Given the description of an element on the screen output the (x, y) to click on. 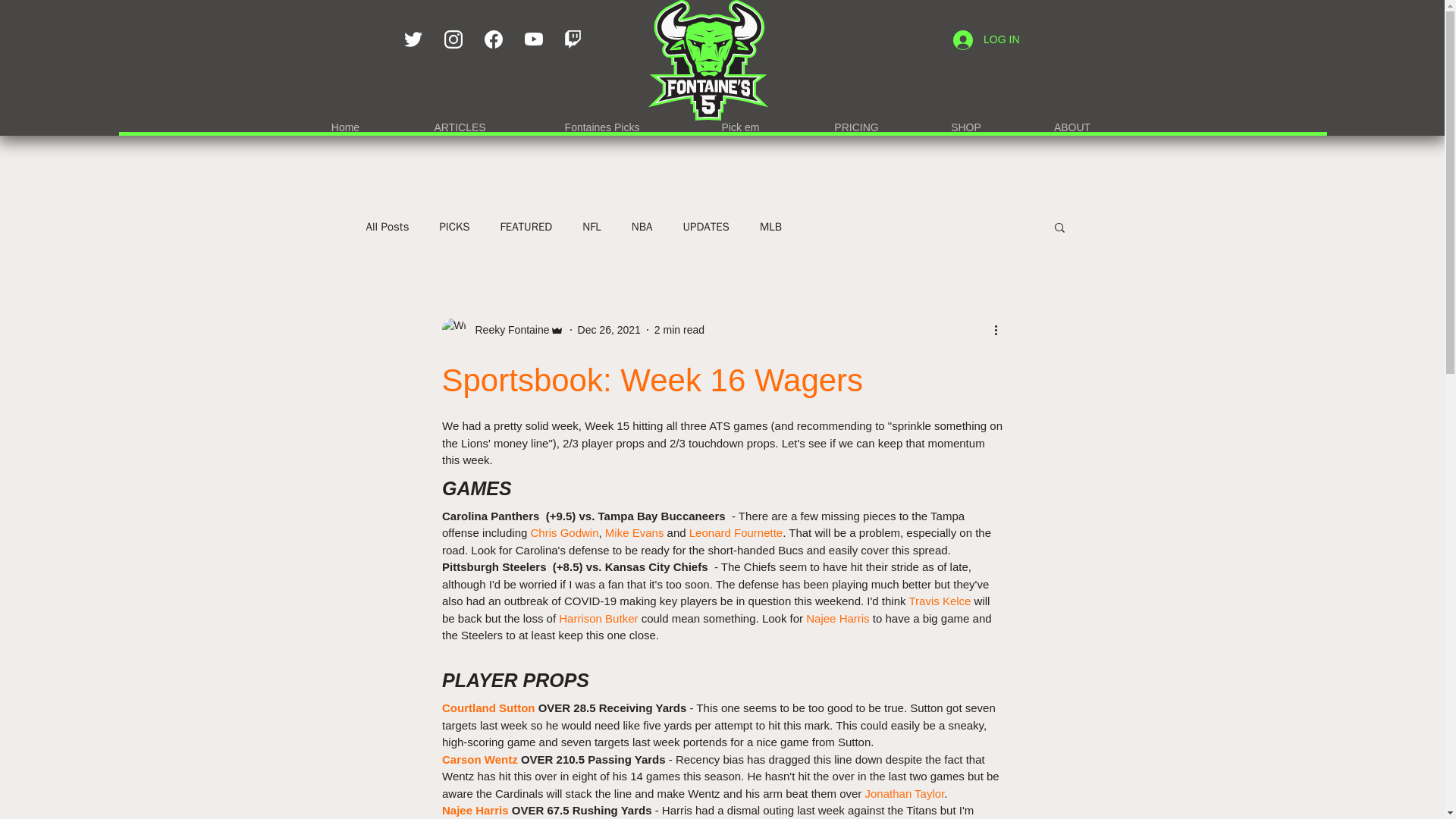
Carson Wentz (478, 758)
Jonathan Taylor (903, 793)
Fontaines Picks (601, 120)
All Posts (387, 227)
Home (345, 120)
Leonard Fournette (734, 532)
NBA (641, 227)
2 min read (678, 328)
NFL (591, 227)
ABOUT (1071, 120)
Chris Godwin (563, 532)
PICKS (453, 227)
Mike Evans (633, 532)
PRICING (855, 120)
Najee Harris (474, 809)
